Given the description of an element on the screen output the (x, y) to click on. 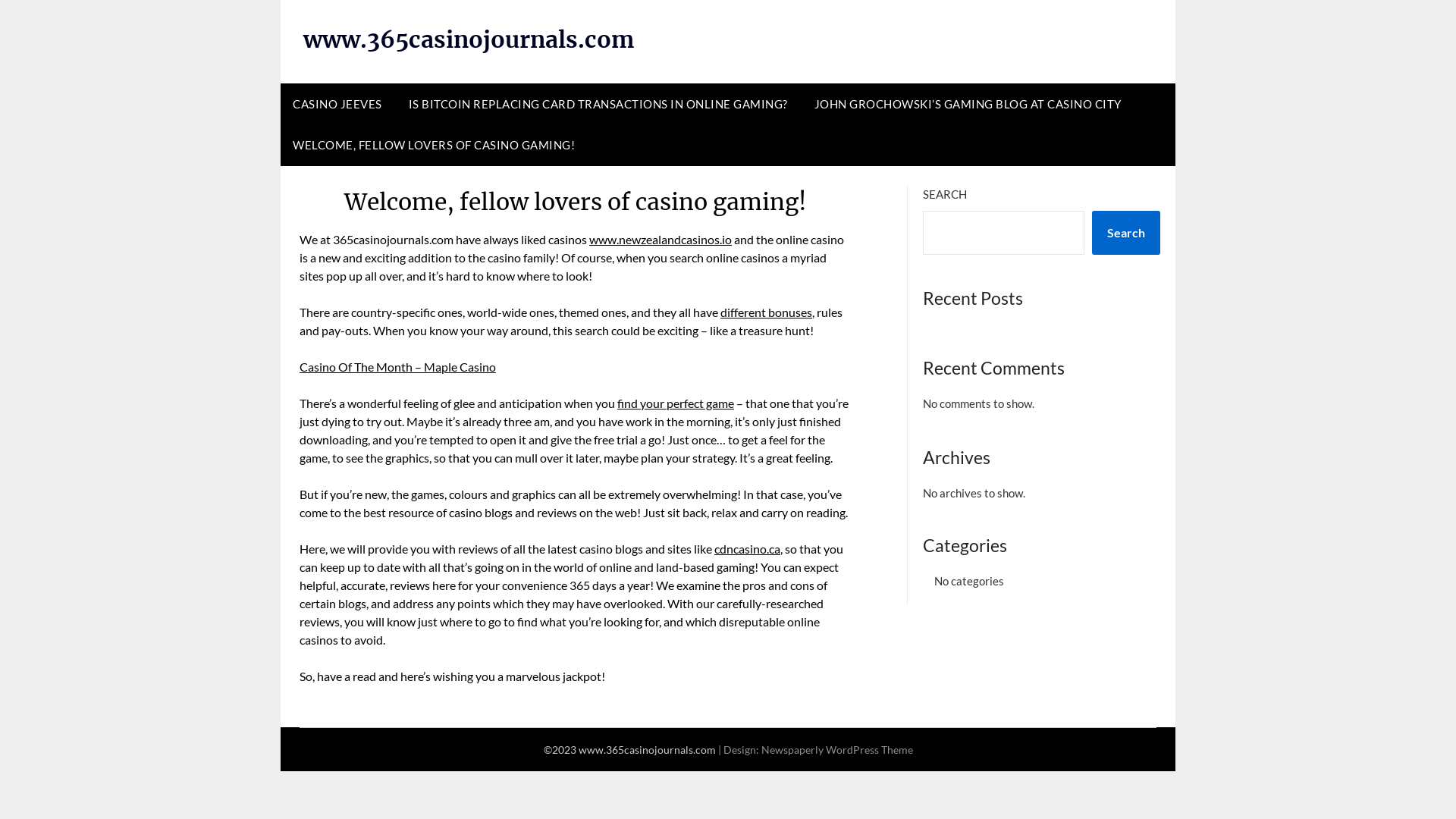
find your perfect game Element type: text (675, 402)
CASINO JEEVES Element type: text (337, 103)
WELCOME, FELLOW LOVERS OF CASINO GAMING! Element type: text (433, 144)
IS BITCOIN REPLACING CARD TRANSACTIONS IN ONLINE GAMING? Element type: text (597, 103)
different bonuses Element type: text (766, 311)
www.newzealandcasinos.io Element type: text (660, 239)
cdncasino.ca Element type: text (747, 548)
Search Element type: text (1126, 232)
www.365casinojournals.com Element type: text (468, 39)
Newspaperly WordPress Theme Element type: text (837, 749)
